Given the description of an element on the screen output the (x, y) to click on. 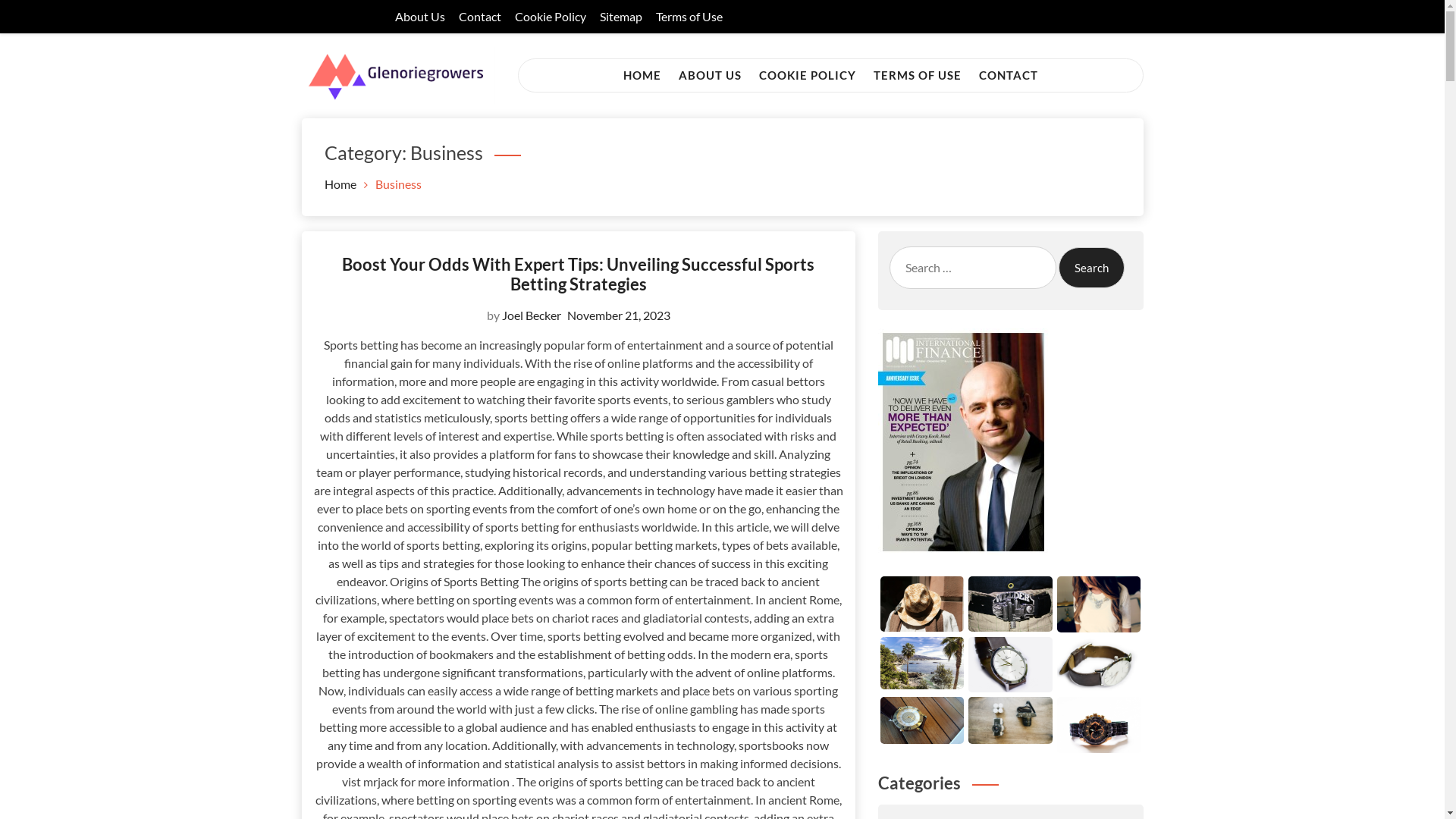
Cookie Policy Element type: text (549, 16)
HOME Element type: text (641, 75)
ABOUT US Element type: text (709, 75)
November 21, 2023 Element type: text (618, 314)
About Us Element type: text (419, 16)
Glenoriegrowers Element type: text (415, 139)
Search Element type: text (1091, 267)
Contact Element type: text (479, 16)
TERMS OF USE Element type: text (917, 75)
COOKIE POLICY Element type: text (806, 75)
CONTACT Element type: text (1007, 75)
Terms of Use Element type: text (688, 16)
Sitemap Element type: text (620, 16)
Home Element type: text (340, 183)
Joel Becker Element type: text (531, 314)
